Given the description of an element on the screen output the (x, y) to click on. 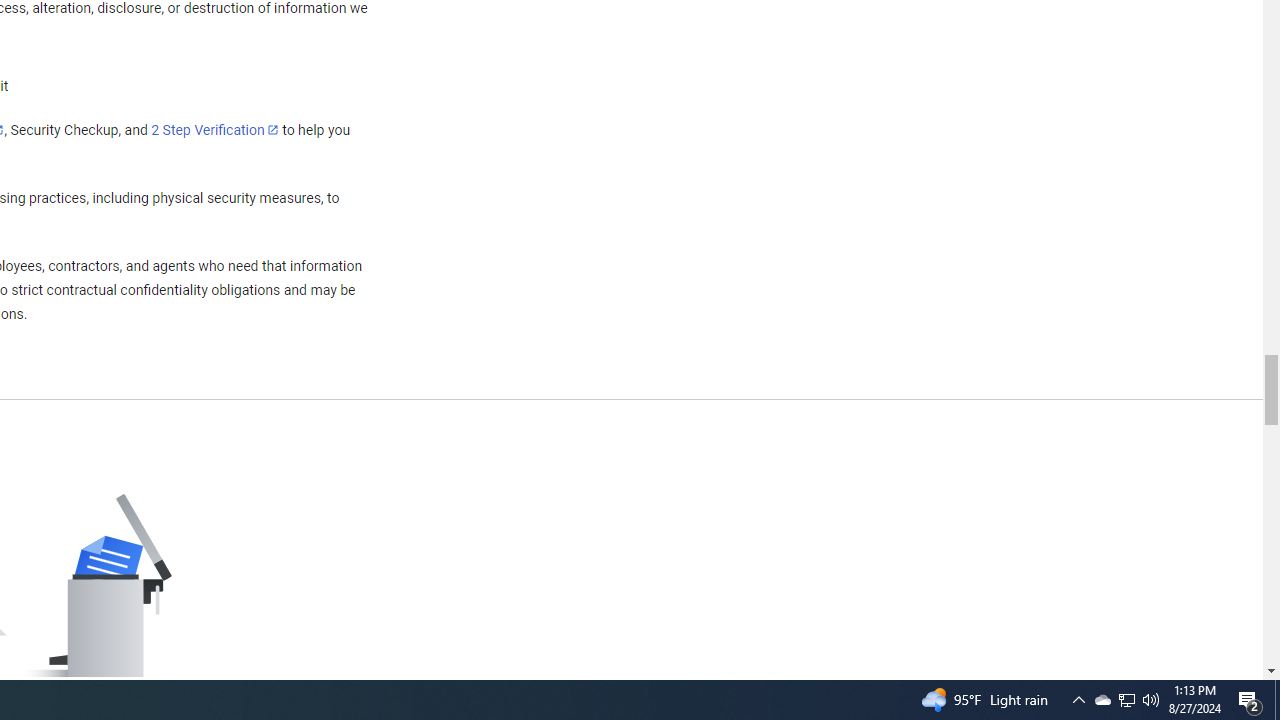
2 Step Verification (215, 129)
